Given the description of an element on the screen output the (x, y) to click on. 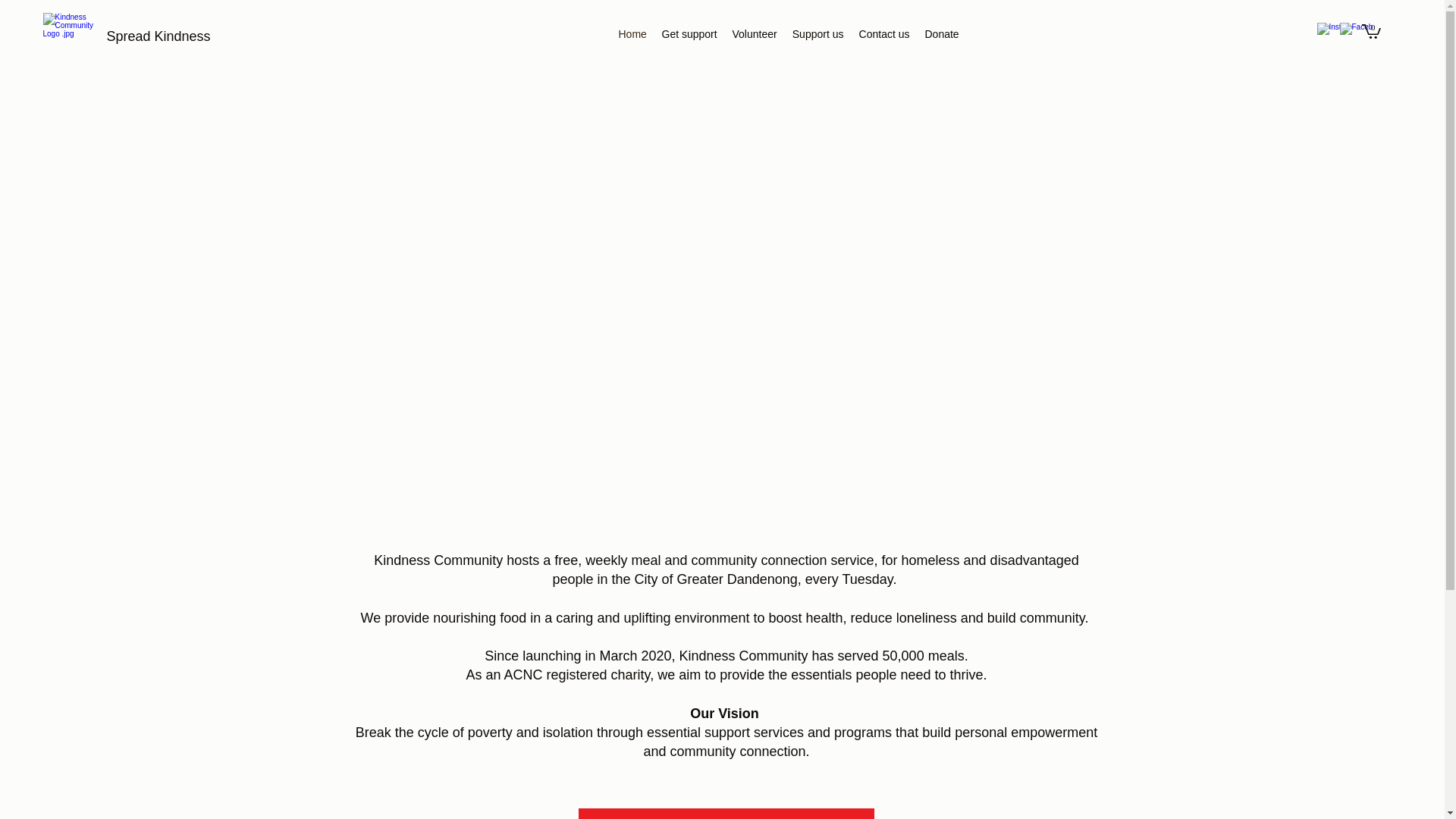
Get support Element type: text (688, 33)
0 Element type: text (1370, 30)
Home Element type: text (632, 33)
Donate Element type: text (941, 33)
Contact us Element type: text (883, 33)
Volunteer Element type: text (754, 33)
Support us Element type: text (817, 33)
